Given the description of an element on the screen output the (x, y) to click on. 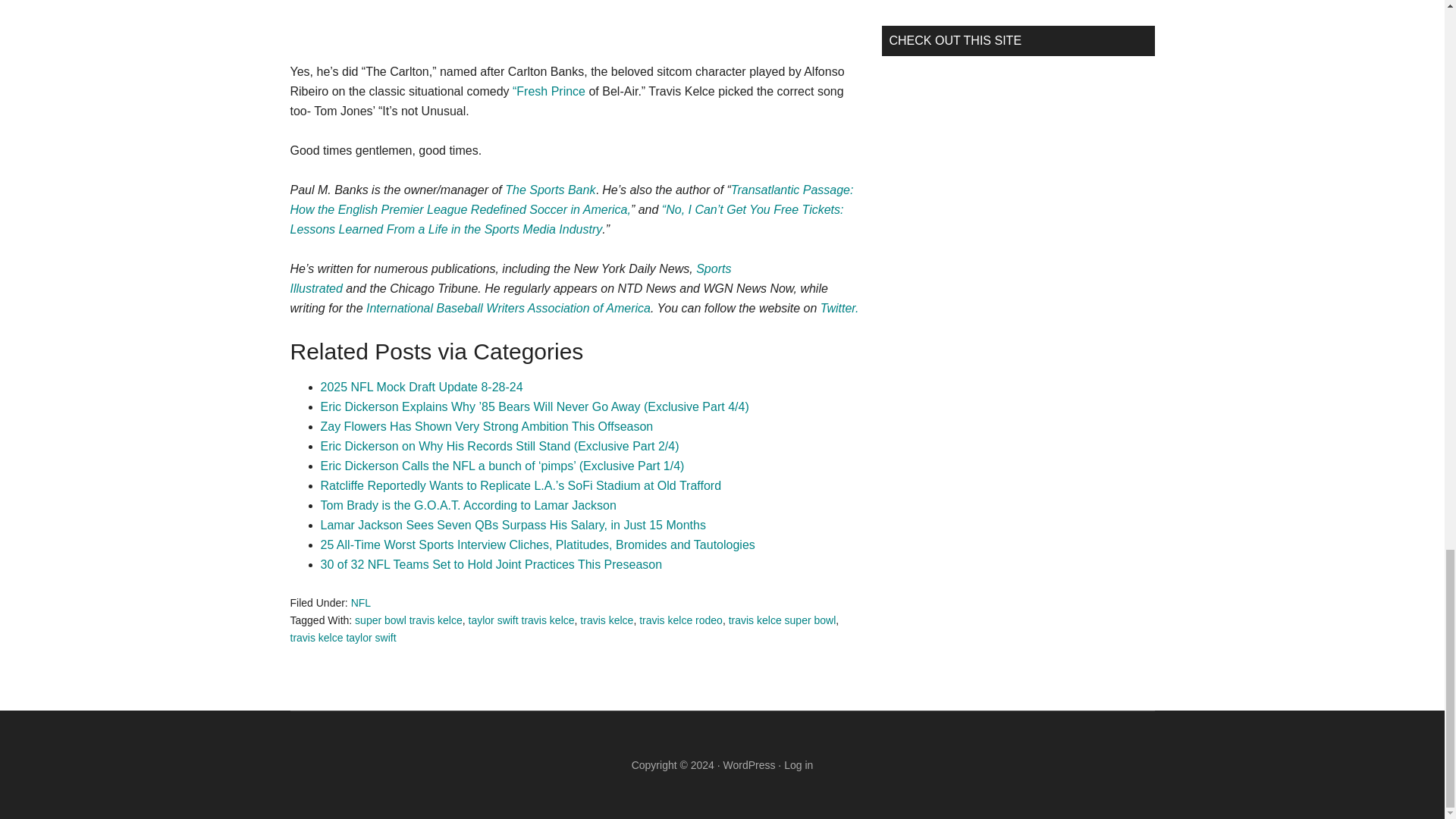
Tom Brady is the G.O.A.T. According to Lamar Jackson (467, 504)
Zay Flowers Has Shown Very Strong Ambition This Offseason (486, 426)
2025 NFL Mock Draft Update 8-28-24 (421, 386)
International Baseball Writers Association of America (508, 308)
Zay Flowers Has Shown Very Strong Ambition This Offseason (486, 426)
Twitter. (840, 308)
2025 NFL Mock Draft Update 8-28-24 (421, 386)
Sports Illustrated (509, 278)
The Sports Bank (550, 189)
